Given the description of an element on the screen output the (x, y) to click on. 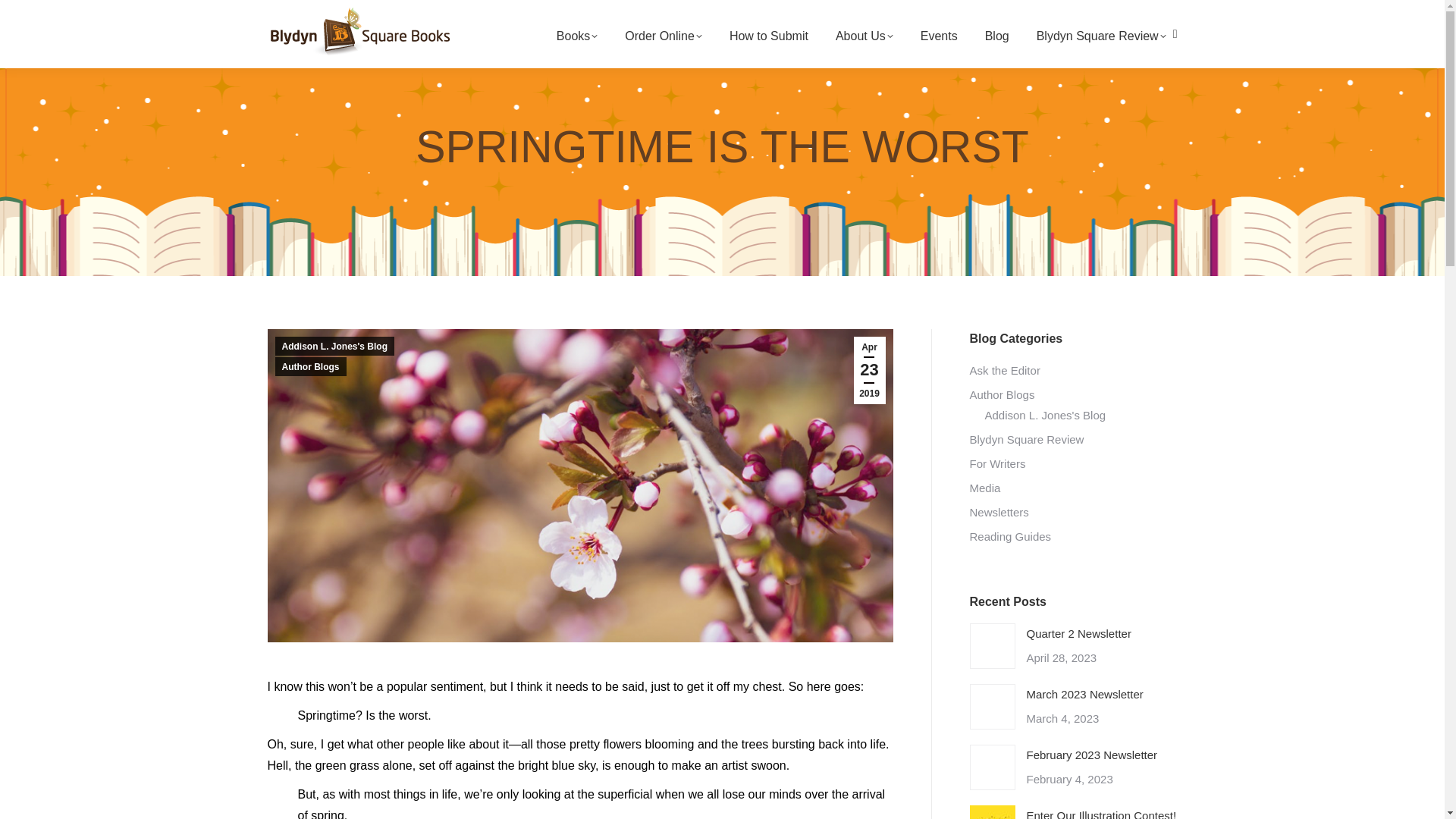
How to Submit (768, 36)
Blydyn Square Review (1101, 36)
Go! (24, 16)
Books (576, 36)
About Us (864, 36)
Order Online (662, 36)
Events (938, 36)
